Given the description of an element on the screen output the (x, y) to click on. 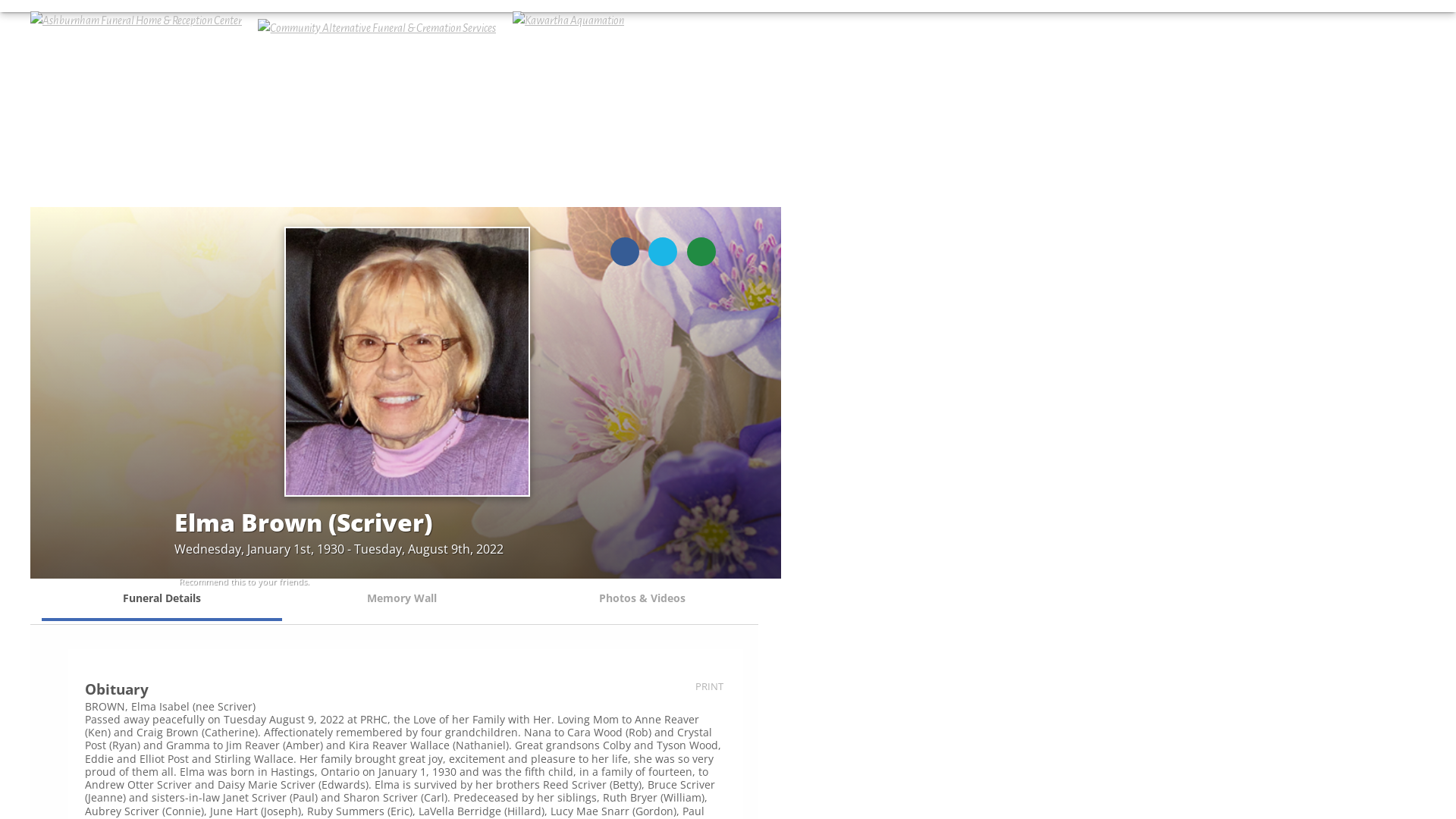
Memory Wall Element type: text (402, 598)
Photos & Videos Element type: text (642, 598)
PRINT Element type: text (709, 686)
Funeral Details Element type: text (161, 598)
